Given the description of an element on the screen output the (x, y) to click on. 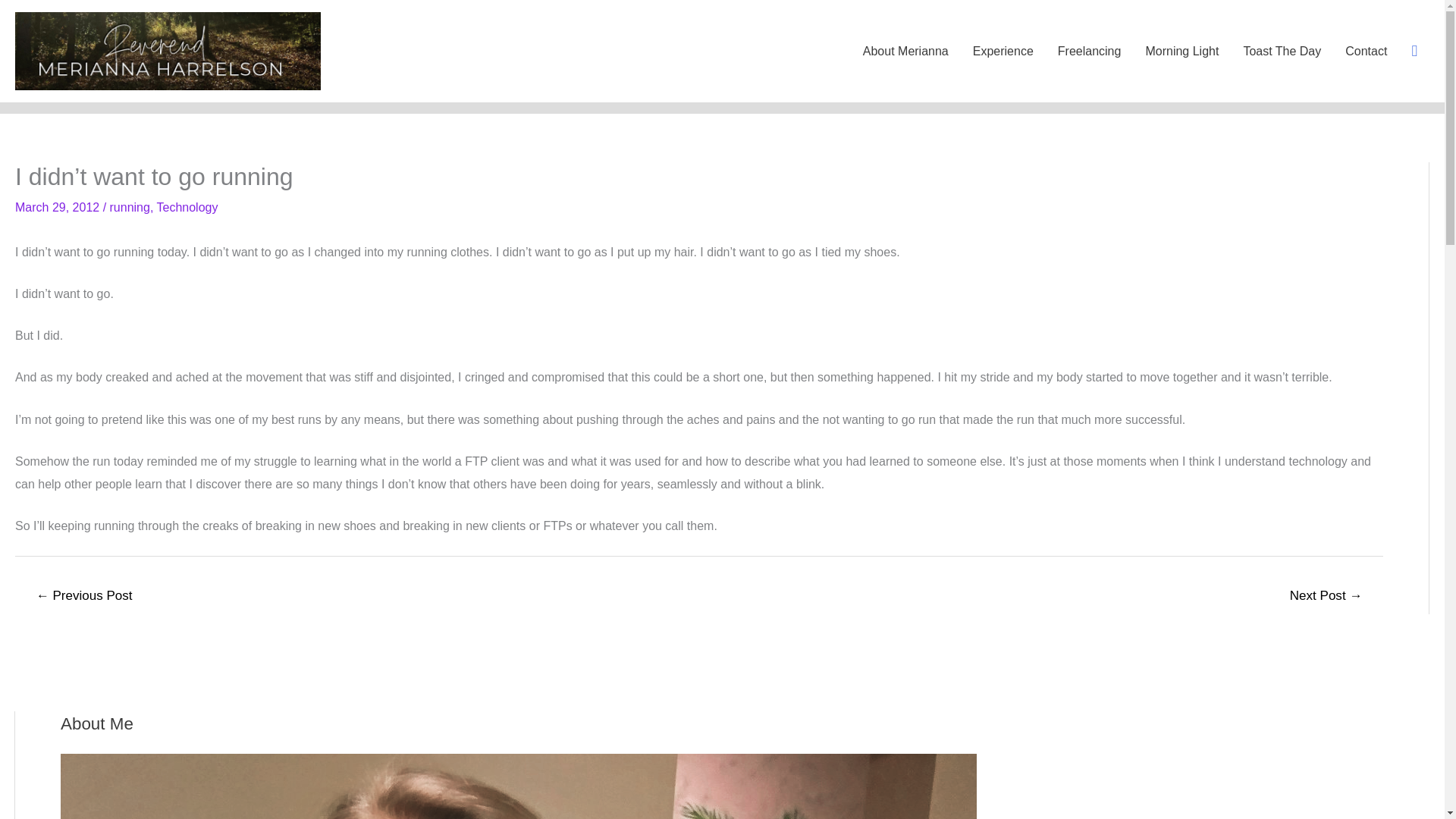
running (129, 206)
About Merianna (905, 51)
Toast The Day (1281, 51)
Technology (185, 206)
Morning Light (1181, 51)
